Given the description of an element on the screen output the (x, y) to click on. 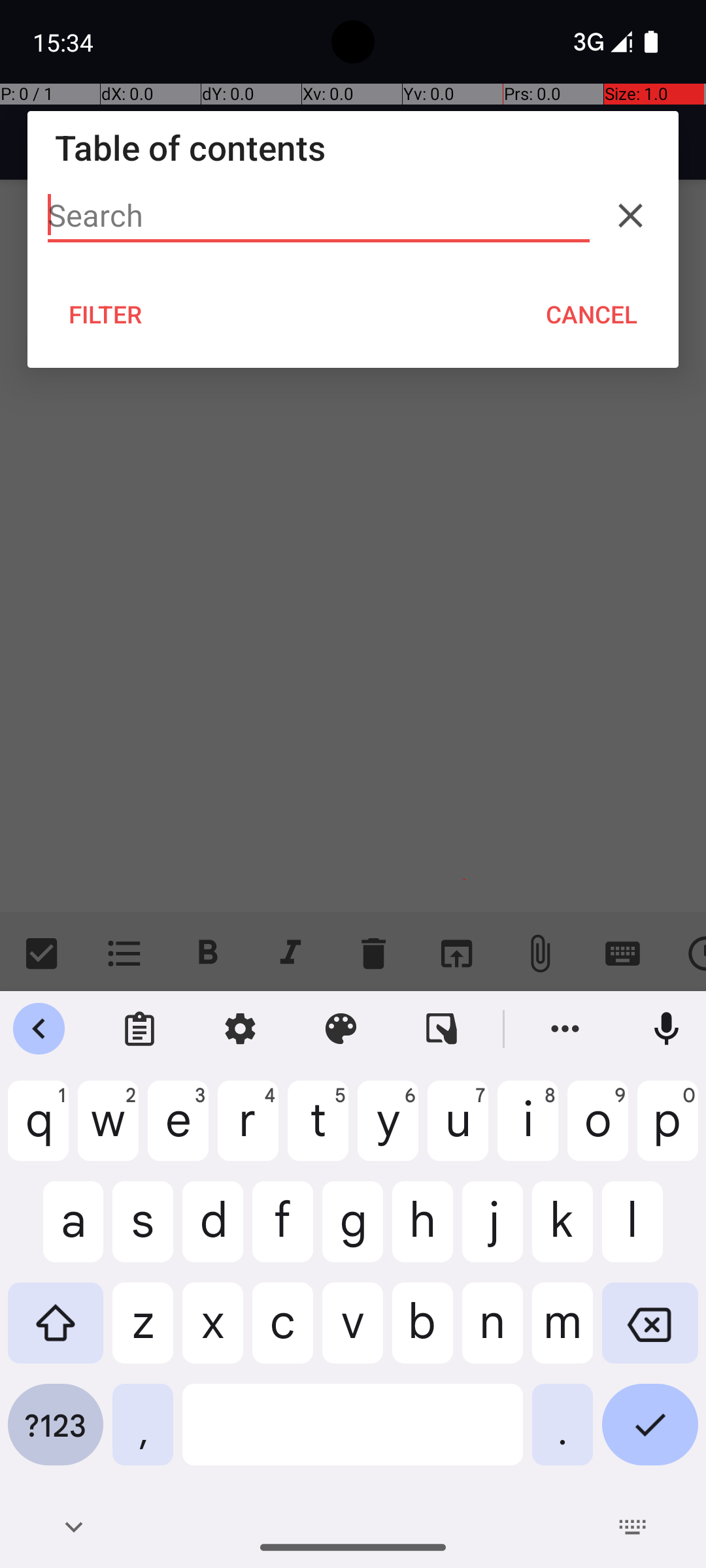
FILTER Element type: android.widget.Button (105, 313)
